Given the description of an element on the screen output the (x, y) to click on. 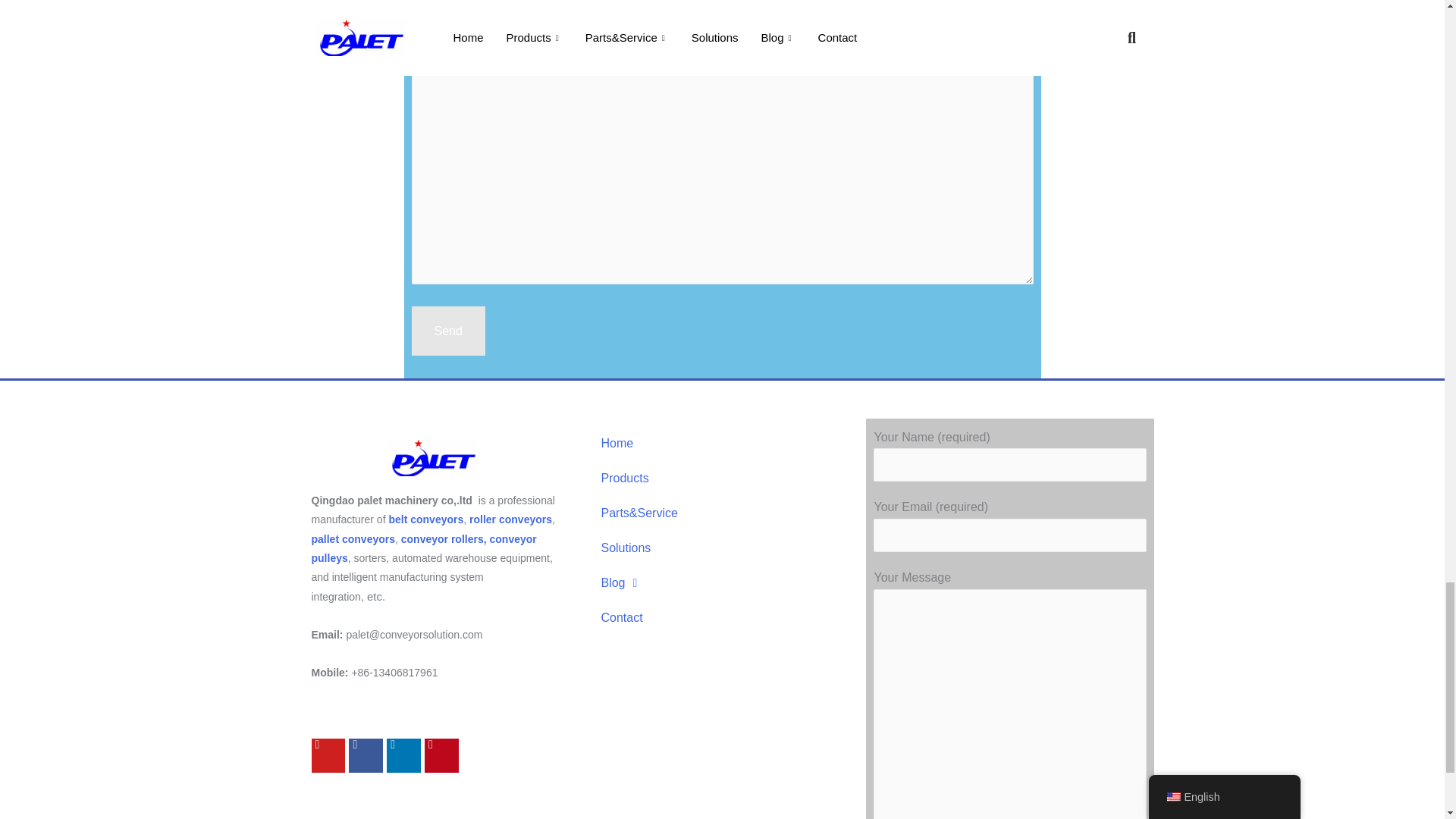
Send (447, 331)
